Given the description of an element on the screen output the (x, y) to click on. 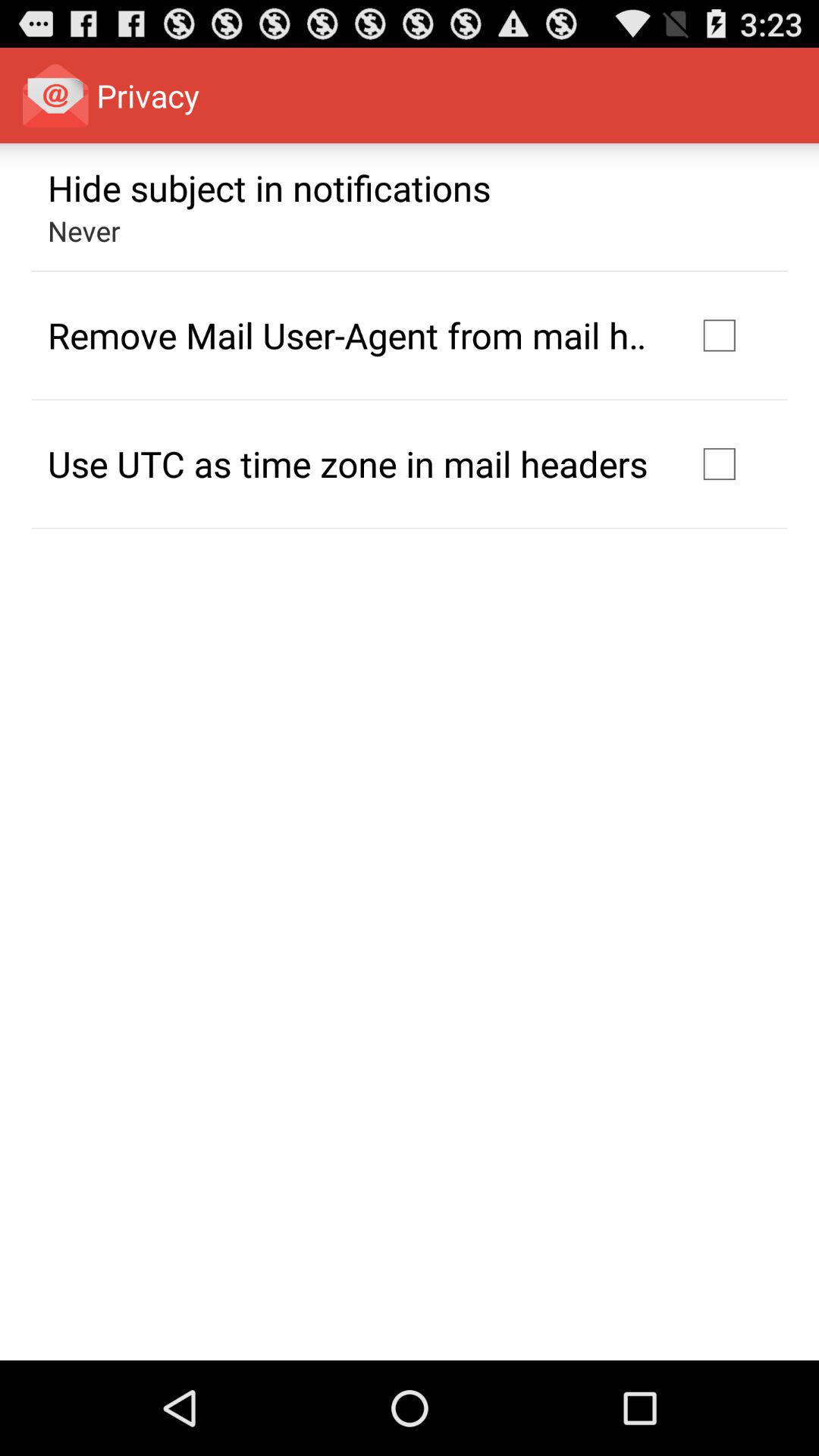
scroll until remove mail user icon (351, 335)
